Given the description of an element on the screen output the (x, y) to click on. 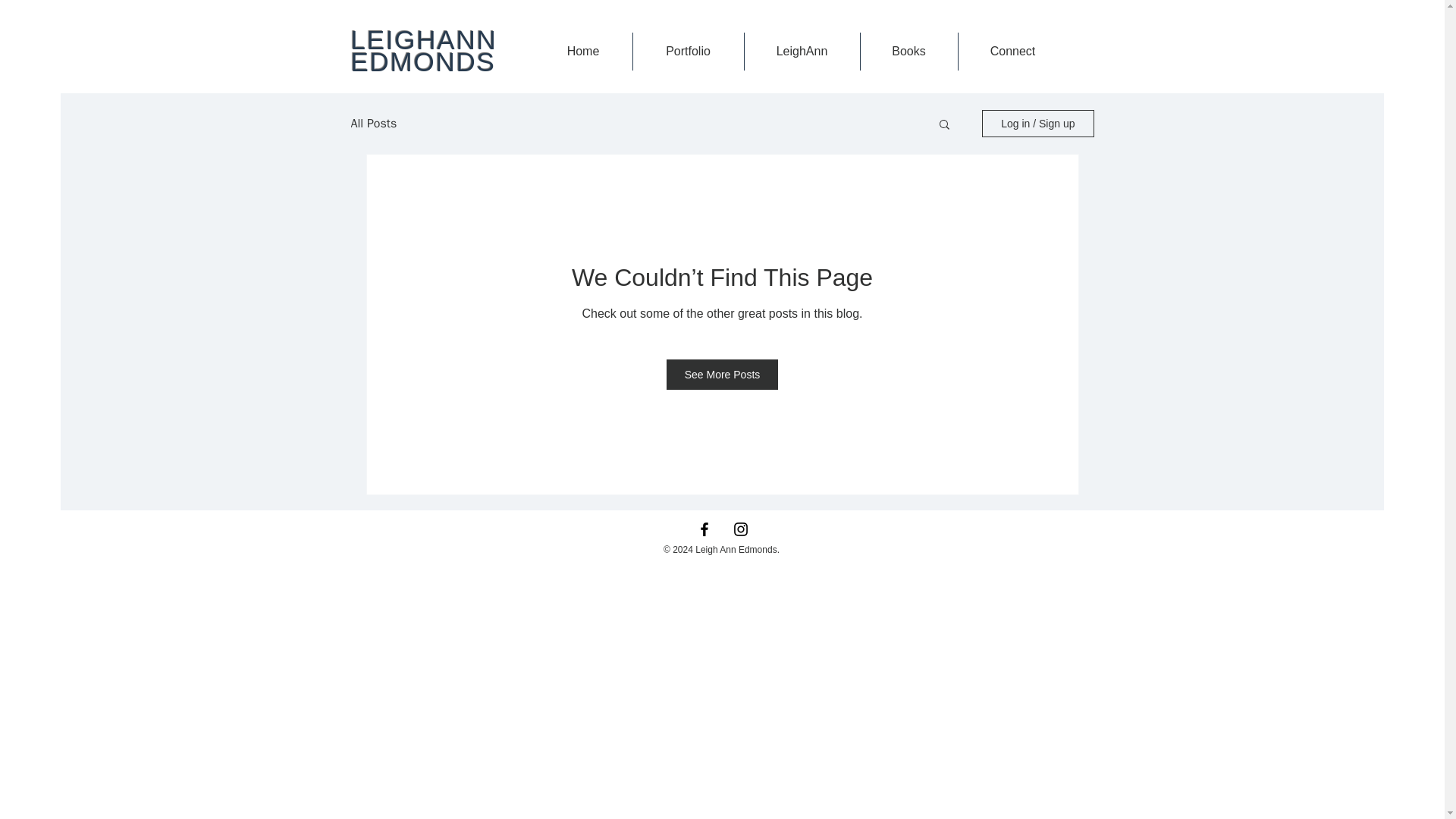
See More Posts (722, 374)
EDMONDS (422, 61)
Home (582, 51)
Connect (1011, 51)
LEIGHANN (423, 39)
Books (909, 51)
Portfolio (687, 51)
LeighAnn (800, 51)
All Posts (373, 123)
